Given the description of an element on the screen output the (x, y) to click on. 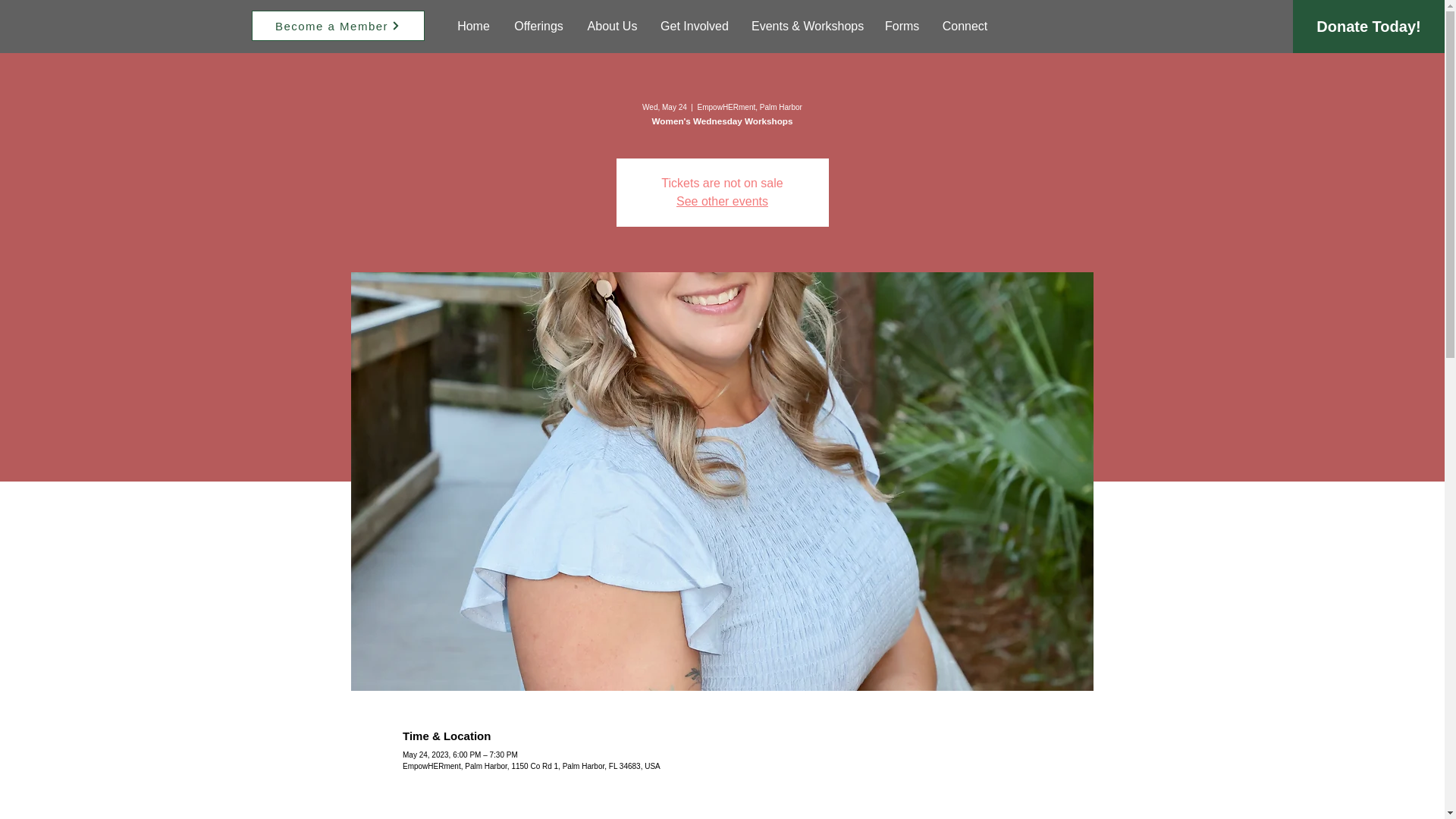
Offerings (538, 26)
Become a Member (338, 25)
Forms (901, 26)
About Us (612, 26)
See other events (722, 201)
Connect (964, 26)
Home (473, 26)
Get Involved (694, 26)
